Given the description of an element on the screen output the (x, y) to click on. 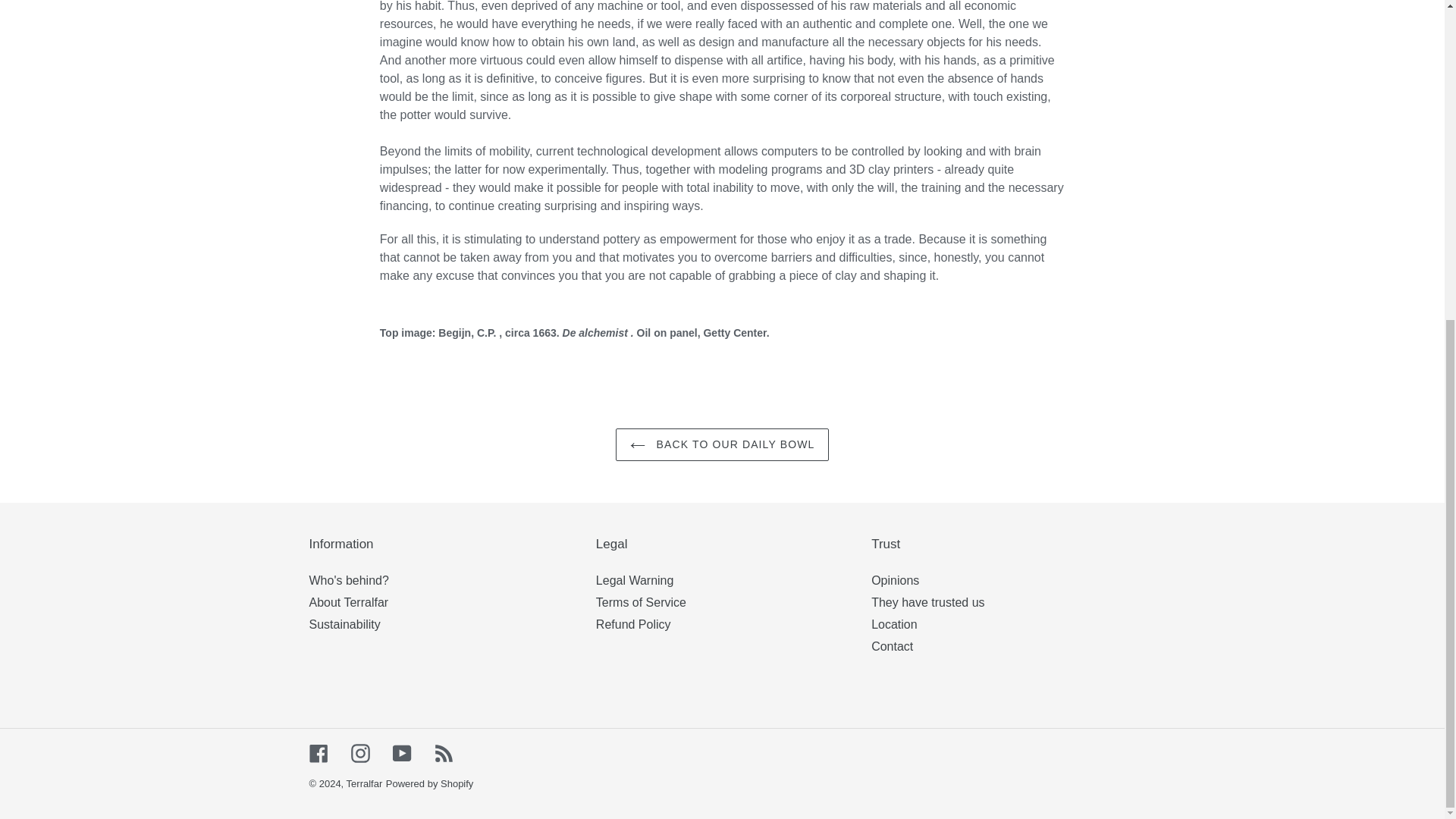
Sustainability (344, 624)
BACK TO OUR DAILY BOWL (722, 444)
Refund Policy (633, 624)
Instagram (359, 752)
Location (893, 624)
YouTube (402, 752)
Opinions (894, 580)
Terralfar (364, 783)
Legal Warning (634, 580)
RSS (442, 752)
